Given the description of an element on the screen output the (x, y) to click on. 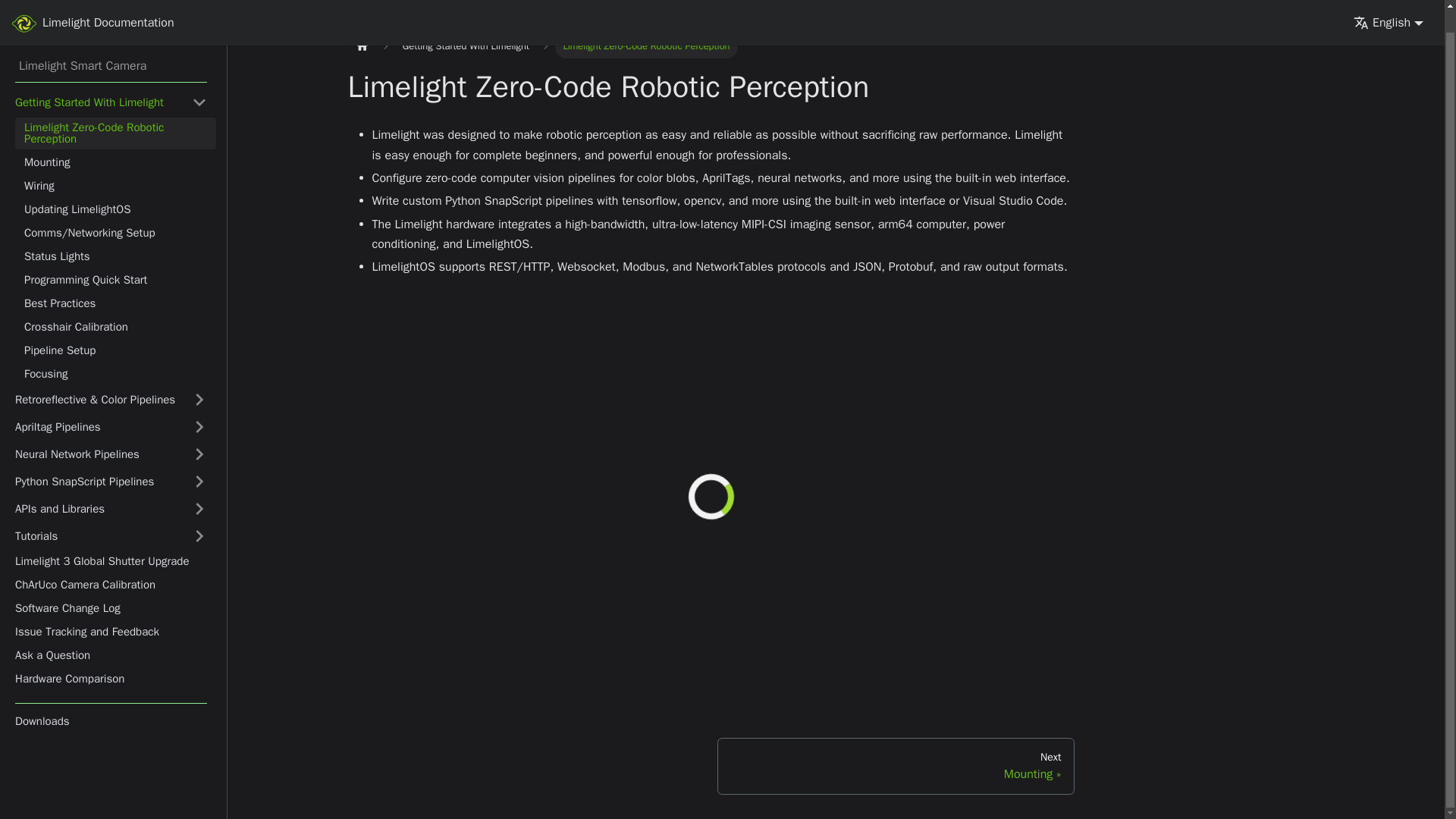
Programming Quick Start (114, 257)
Getting Started With Limelight (110, 79)
Tutorials (110, 513)
Best Practices (114, 281)
Mounting (114, 139)
Limelight 3 Global Shutter Upgrade (110, 538)
Focusing (114, 351)
Apriltag Pipelines (110, 404)
Limelight Documentation (92, 6)
Neural Network Pipelines (110, 431)
Python SnapScript Pipelines (110, 458)
English (1388, 3)
Issue Tracking and Feedback (110, 608)
Status Lights (114, 233)
Hardware Comparison (110, 656)
